Given the description of an element on the screen output the (x, y) to click on. 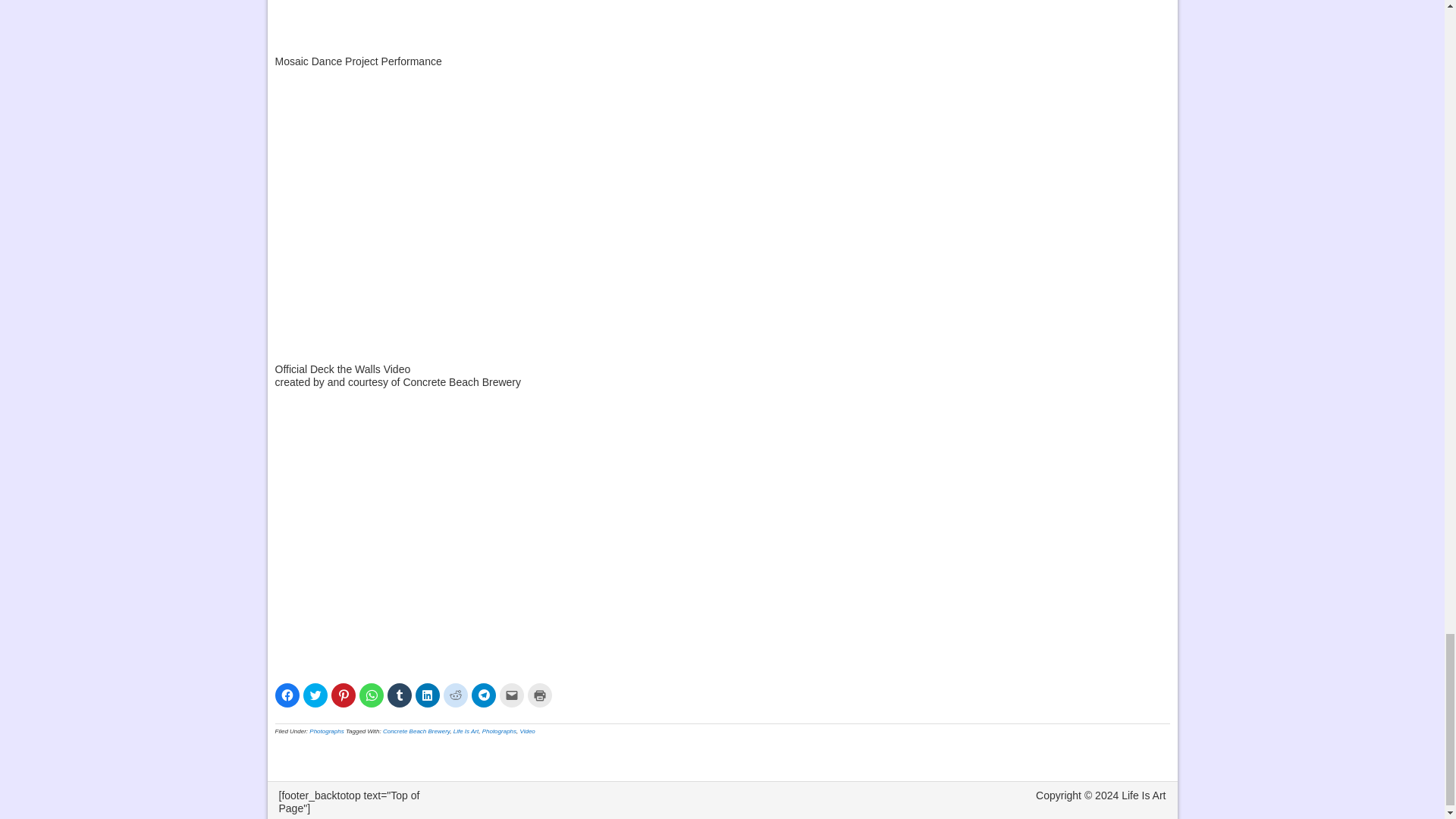
Click to share on Facebook (286, 695)
Click to share on Telegram (483, 695)
Click to share on Tumblr (398, 695)
Click to share on LinkedIn (426, 695)
Click to print (539, 695)
Click to email a link to a friend (510, 695)
Click to share on Twitter (314, 695)
Click to share on Reddit (454, 695)
Click to share on Pinterest (342, 695)
Click to share on WhatsApp (371, 695)
